Given the description of an element on the screen output the (x, y) to click on. 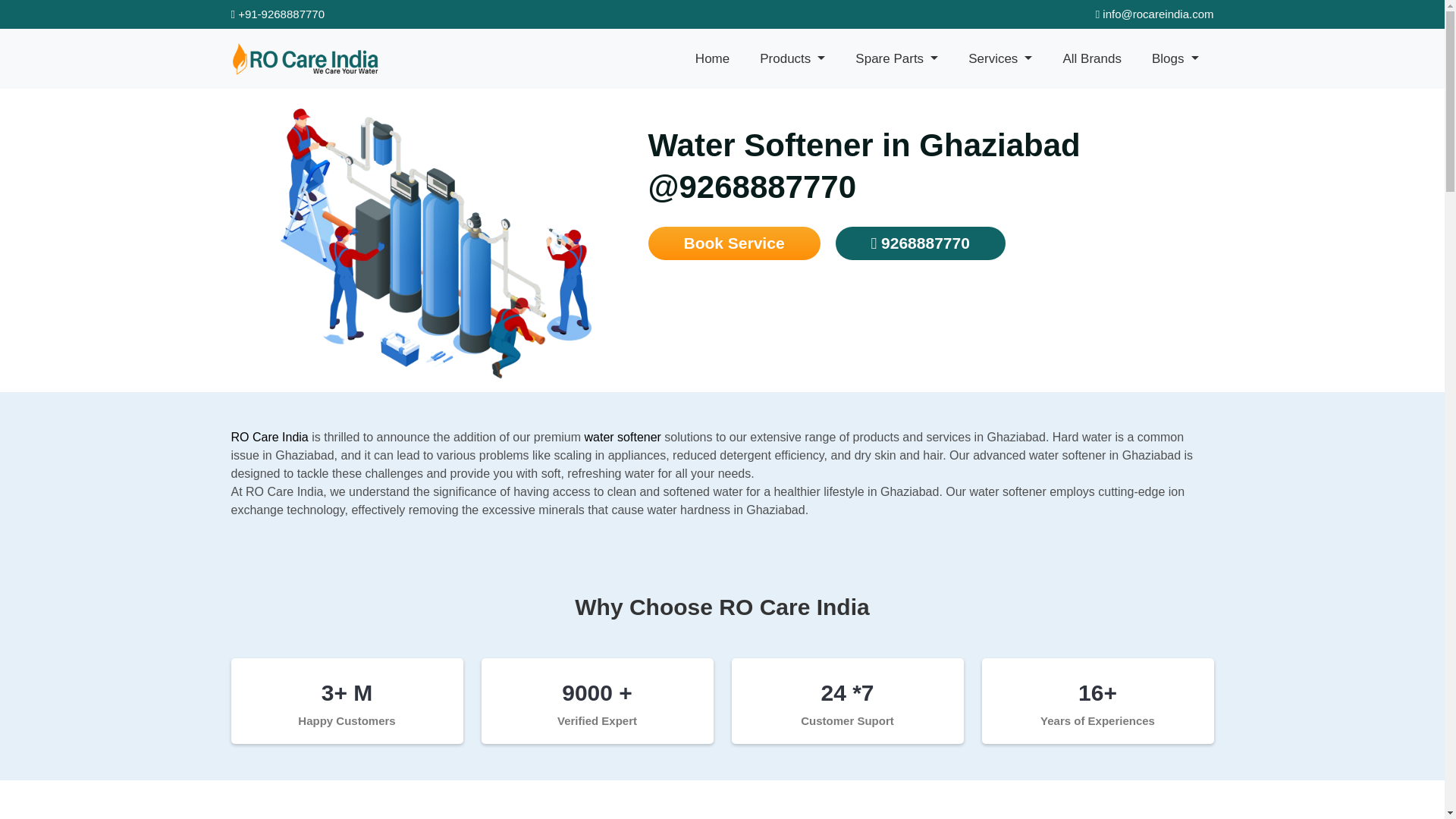
9268887770 (920, 243)
Products (792, 58)
Book Service (733, 243)
Spare Parts (895, 58)
RO Care India (268, 436)
Blogs (1175, 58)
Services (1000, 58)
All Brands (1091, 58)
Home (711, 58)
